Given the description of an element on the screen output the (x, y) to click on. 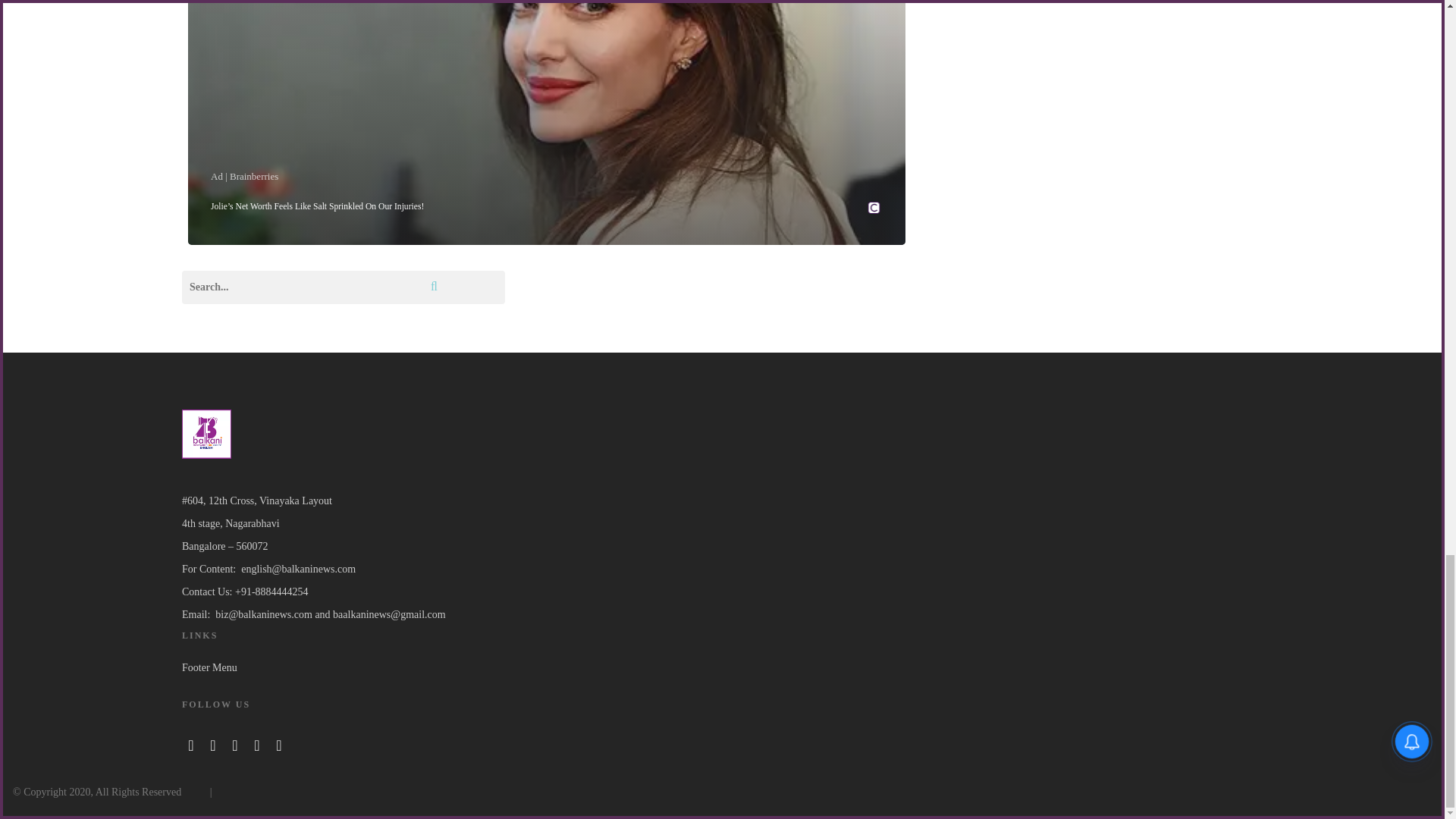
Pinterest (278, 743)
Search for: (343, 287)
Twitter (212, 743)
Instagram (256, 743)
YouTube (234, 743)
Facebook (191, 743)
